Given the description of an element on the screen output the (x, y) to click on. 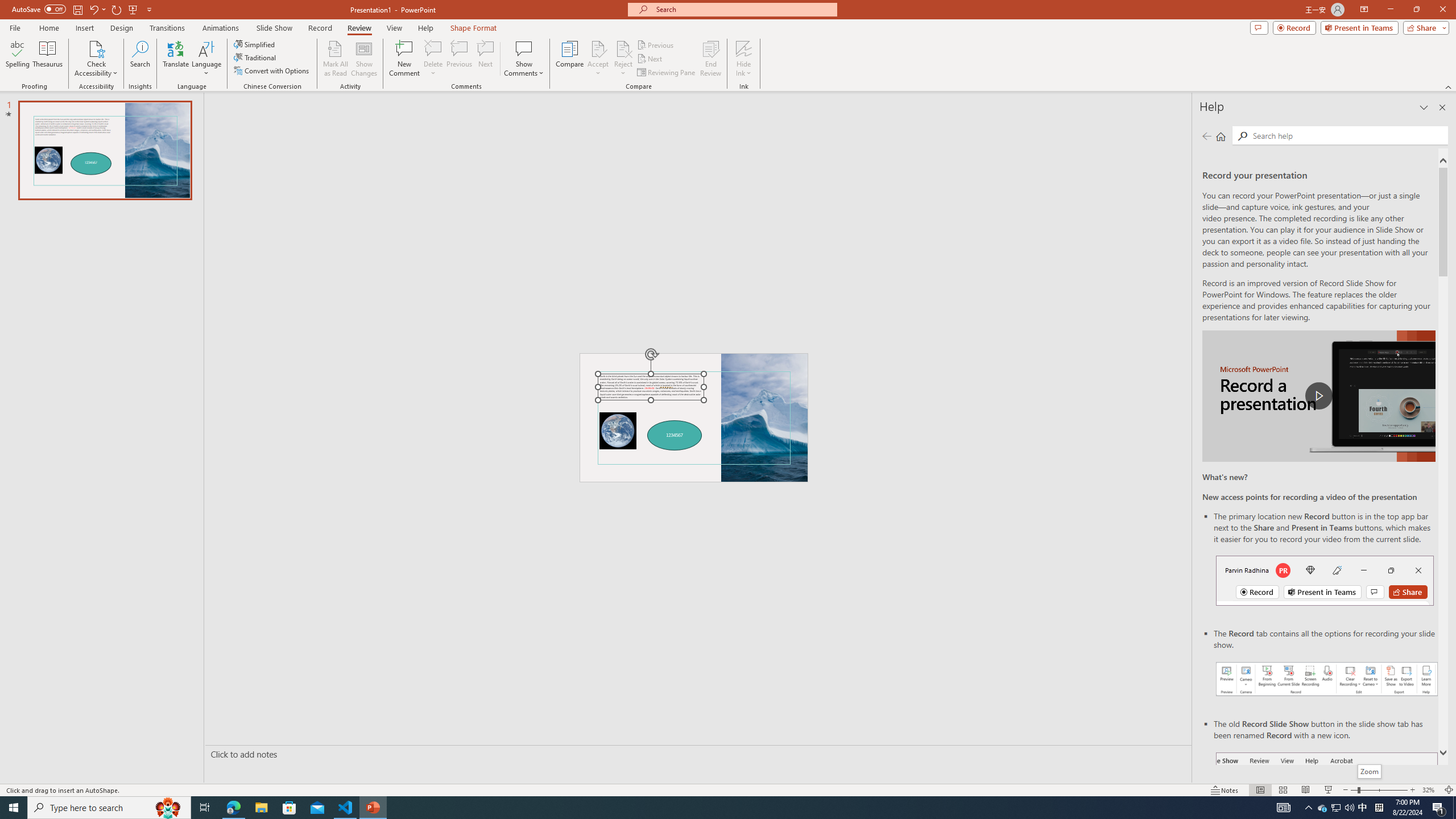
play Record a Presentation (1318, 395)
Reject Change (622, 48)
Traditional (255, 56)
Reviewing Pane (666, 72)
